Given the description of an element on the screen output the (x, y) to click on. 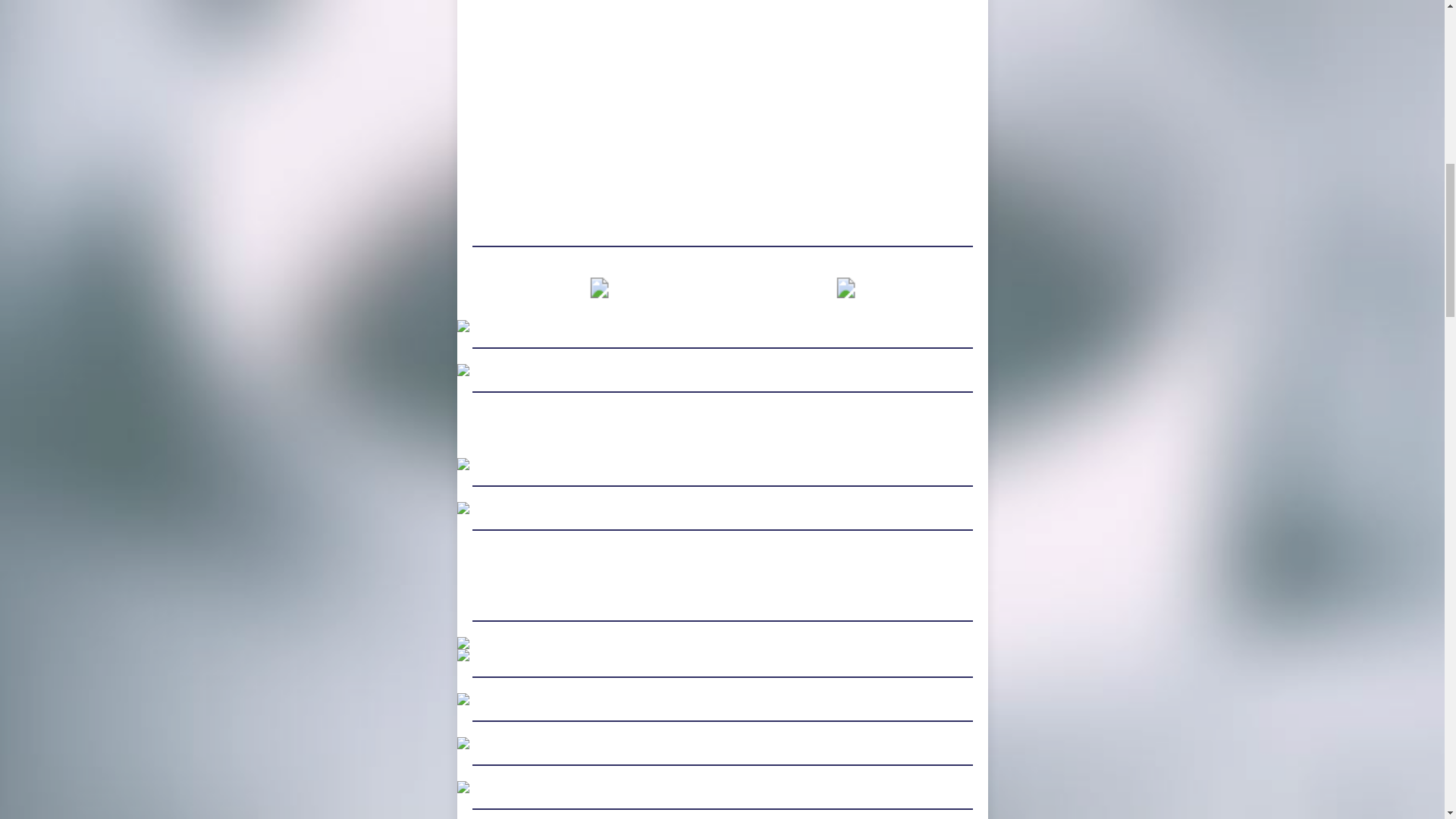
Menu (802, 290)
Us (705, 433)
Help (671, 433)
Lunch (734, 290)
Succeed (755, 433)
Weekly (656, 290)
